Given the description of an element on the screen output the (x, y) to click on. 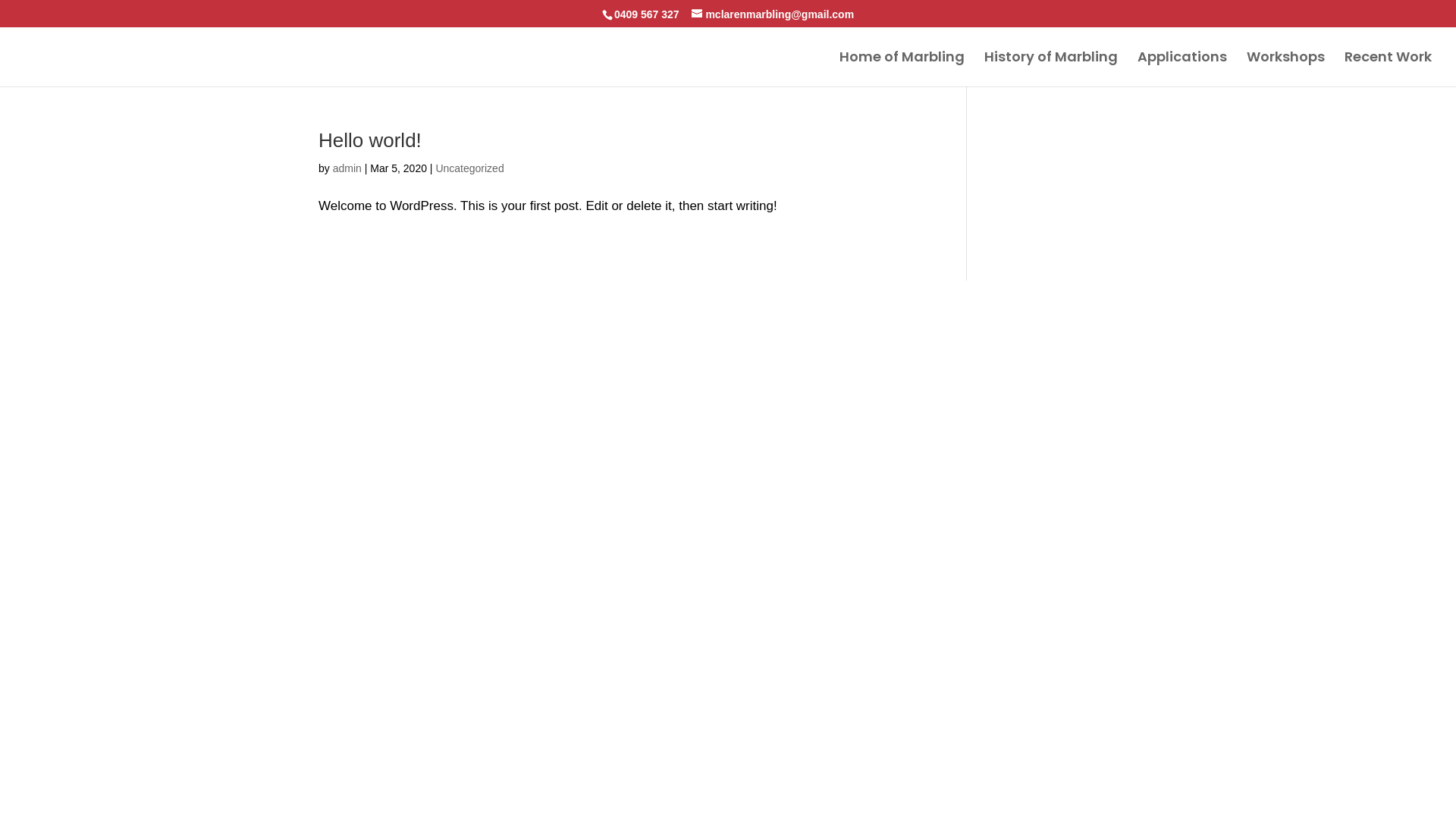
Recent Work Element type: text (1387, 68)
admin Element type: text (346, 168)
Uncategorized Element type: text (469, 168)
History of Marbling Element type: text (1050, 68)
Home of Marbling Element type: text (901, 68)
Applications Element type: text (1181, 68)
0409 567 327 Element type: text (646, 13)
Workshops Element type: text (1285, 68)
Hello world! Element type: text (369, 139)
mclarenmarbling@gmail.com Element type: text (772, 13)
